Given the description of an element on the screen output the (x, y) to click on. 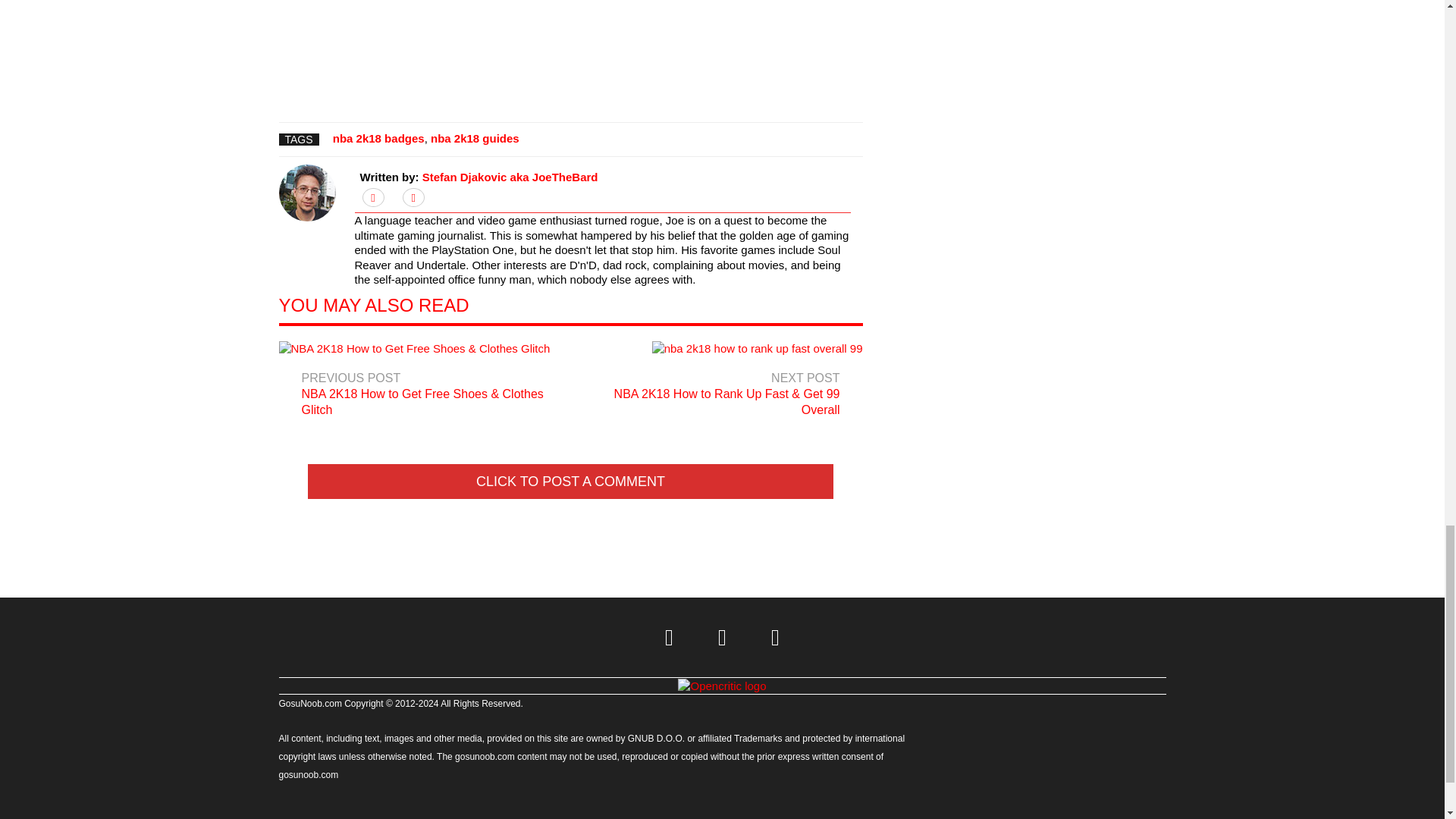
Twitter Profile (669, 637)
Contact author (413, 196)
Stefan Djakovic aka JoeTheBard (510, 176)
nba 2k18 badges (379, 137)
Youtube Channel (776, 637)
nba 2k18 guides (474, 137)
Author Twitter Profile (373, 196)
Facebook Profile page (722, 637)
